Given the description of an element on the screen output the (x, y) to click on. 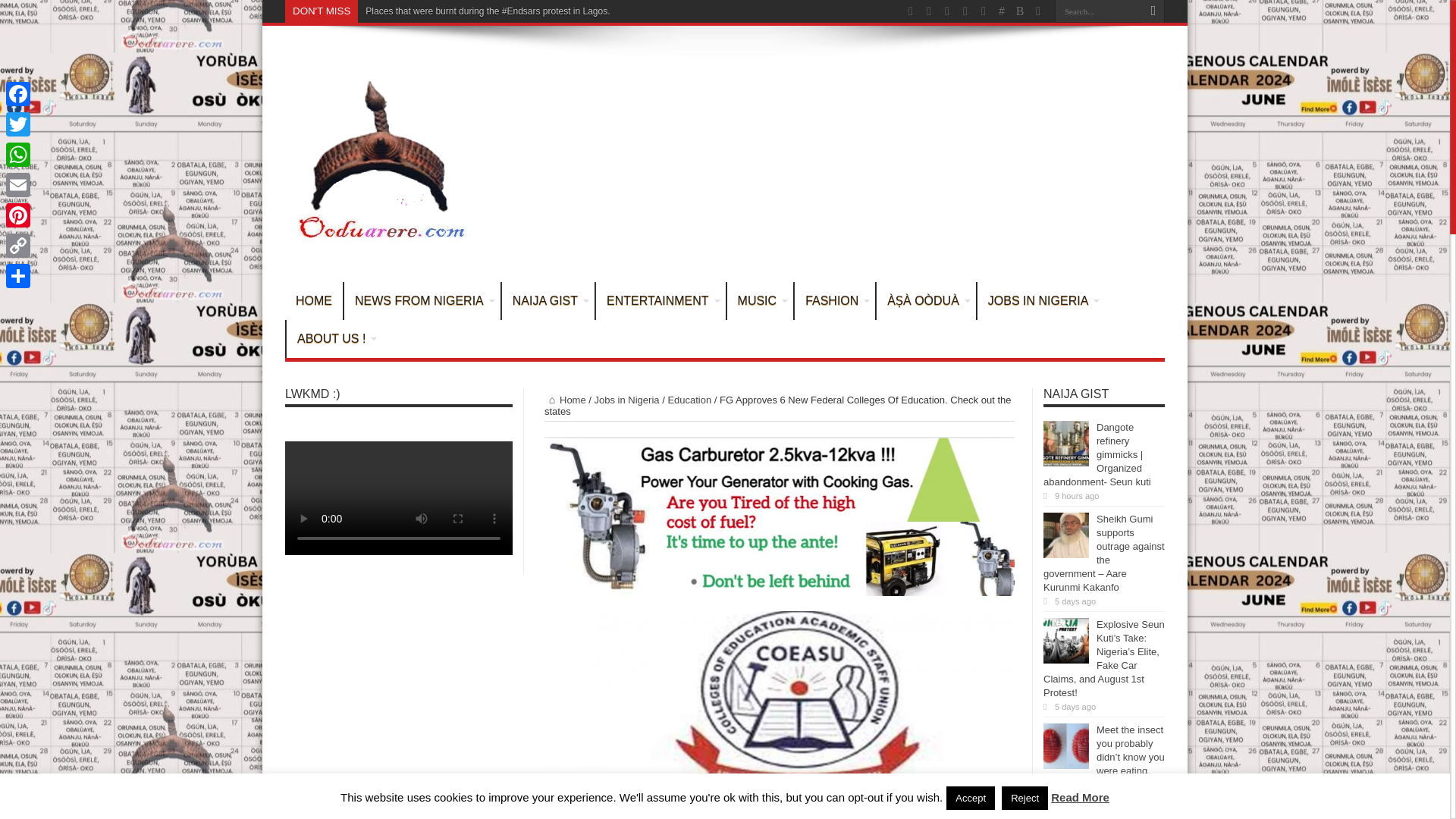
Advertisement (888, 156)
Search... (1097, 11)
Search (1152, 11)
ENTERTAINMENT (660, 300)
JOBS IN NIGERIA (1040, 300)
FASHION (834, 300)
MUSIC (759, 300)
